Given the description of an element on the screen output the (x, y) to click on. 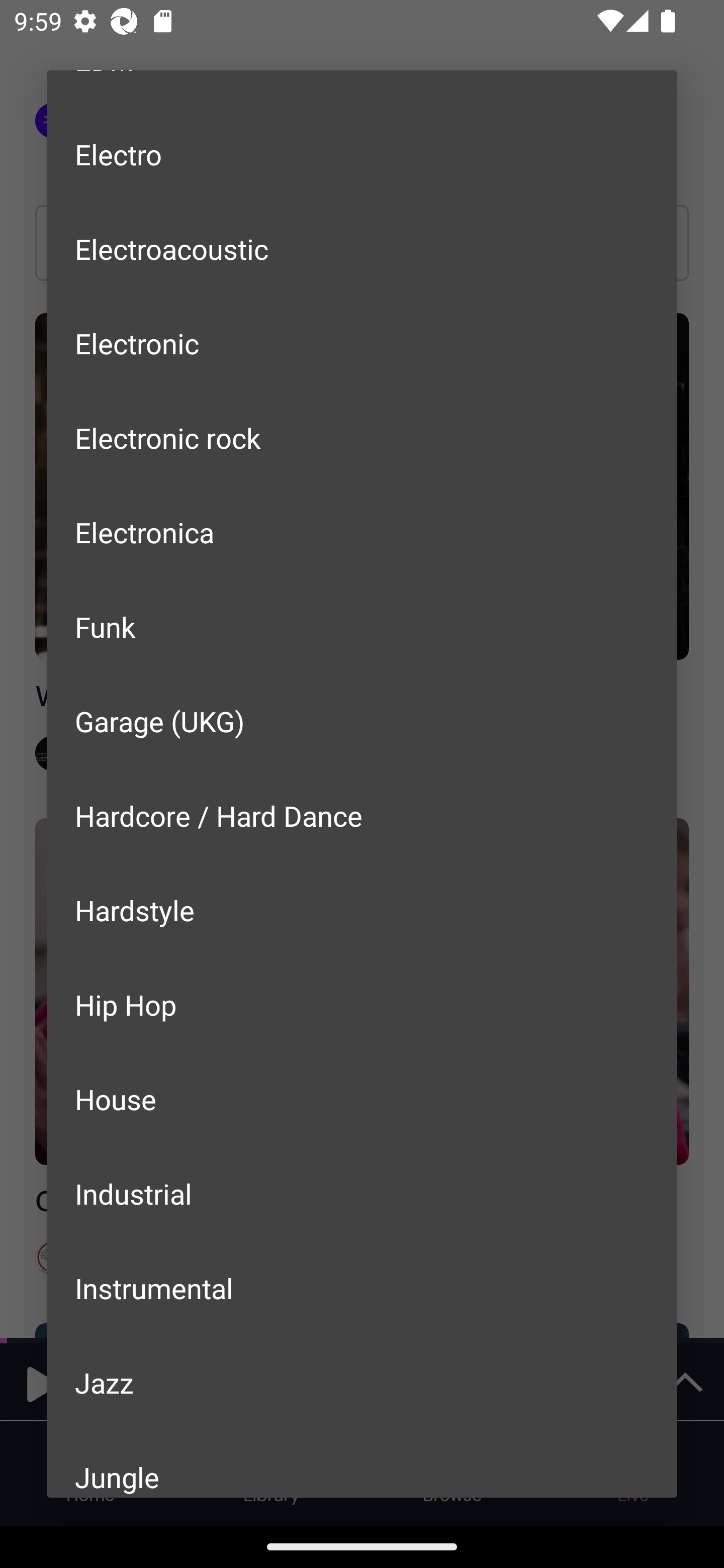
Electro (361, 154)
Electroacoustic (361, 249)
Electronic (361, 343)
Electronic rock (361, 437)
Electronica (361, 532)
Funk (361, 627)
Garage (UKG) (361, 721)
Hardcore / Hard Dance (361, 815)
Hardstyle (361, 910)
Hip Hop (361, 1005)
House (361, 1099)
Industrial (361, 1193)
Instrumental (361, 1287)
Jazz (361, 1382)
Jungle (361, 1463)
